Given the description of an element on the screen output the (x, y) to click on. 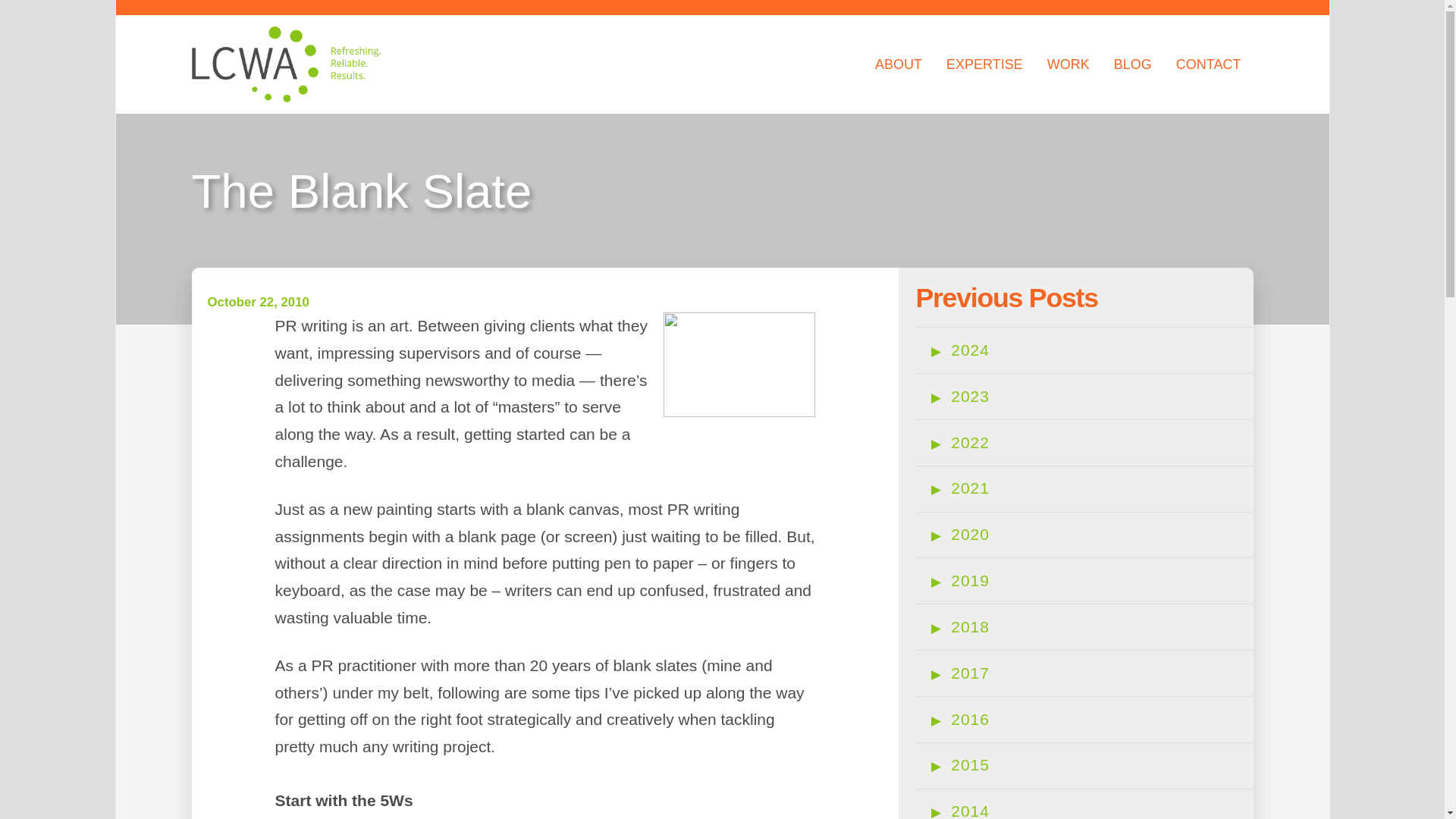
2023 (970, 395)
2024 (970, 349)
ABOUT (898, 64)
CONTACT (1208, 64)
EXPERTISE (984, 64)
2022 (970, 442)
